Given the description of an element on the screen output the (x, y) to click on. 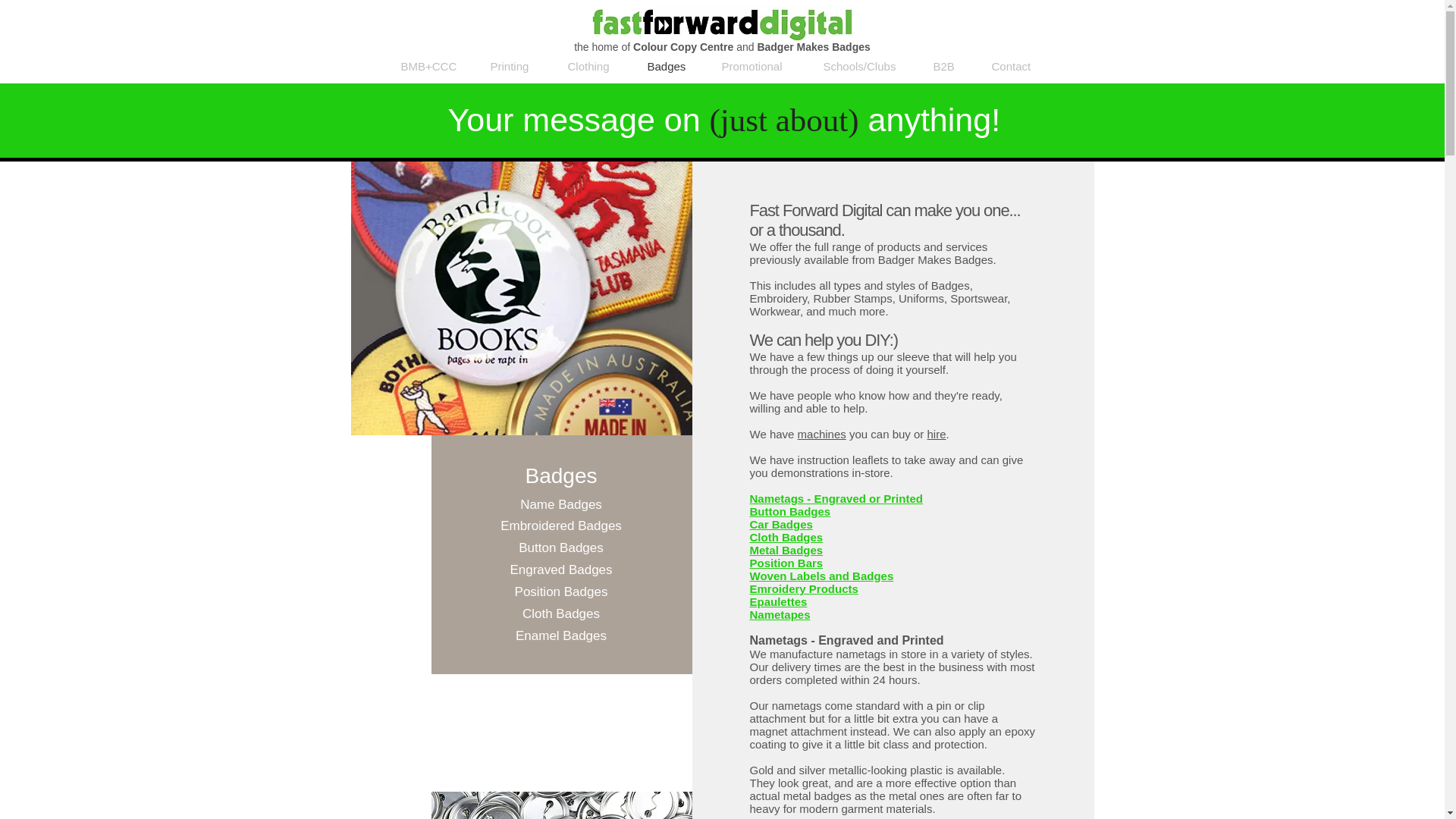
Epaulettes (777, 601)
hire (936, 433)
Clothing (596, 66)
Metal Badges (785, 549)
Cloth Badges (785, 536)
B2B (950, 66)
Promotional (760, 66)
machines (821, 433)
Printing (517, 66)
Car Badges (780, 523)
Nametapes (779, 614)
Button Badges (789, 511)
Woven Labels and Badges (821, 575)
Position Bars (785, 562)
Nametags - Engraved or Printed (835, 498)
